Given the description of an element on the screen output the (x, y) to click on. 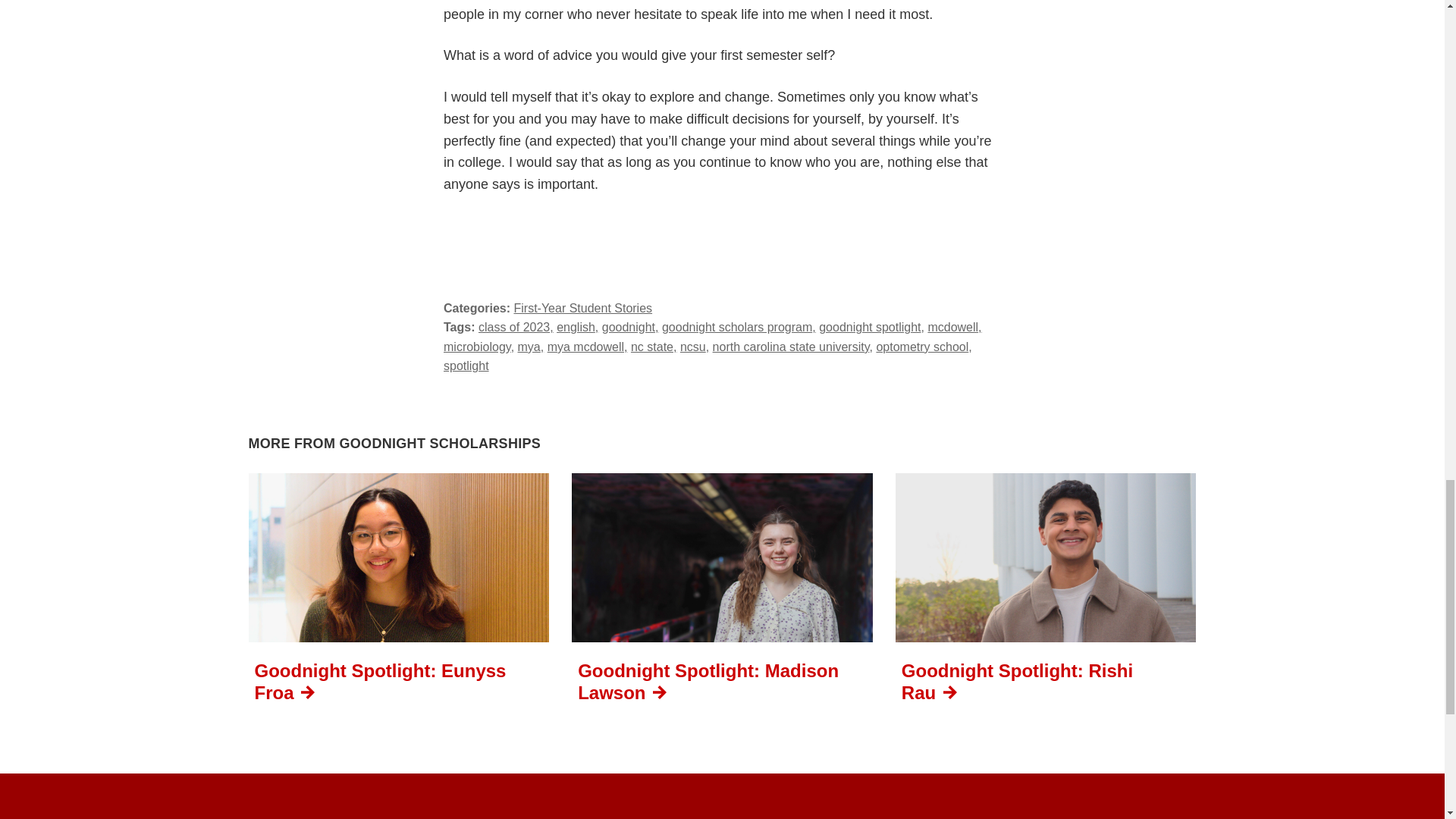
north carolina state university (792, 346)
goodnight scholars program (738, 327)
goodnight (630, 327)
english (577, 327)
goodnight spotlight (871, 327)
optometry school (923, 346)
mcdowell (954, 327)
mya mcdowell (587, 346)
mya (531, 346)
nc state (653, 346)
